Given the description of an element on the screen output the (x, y) to click on. 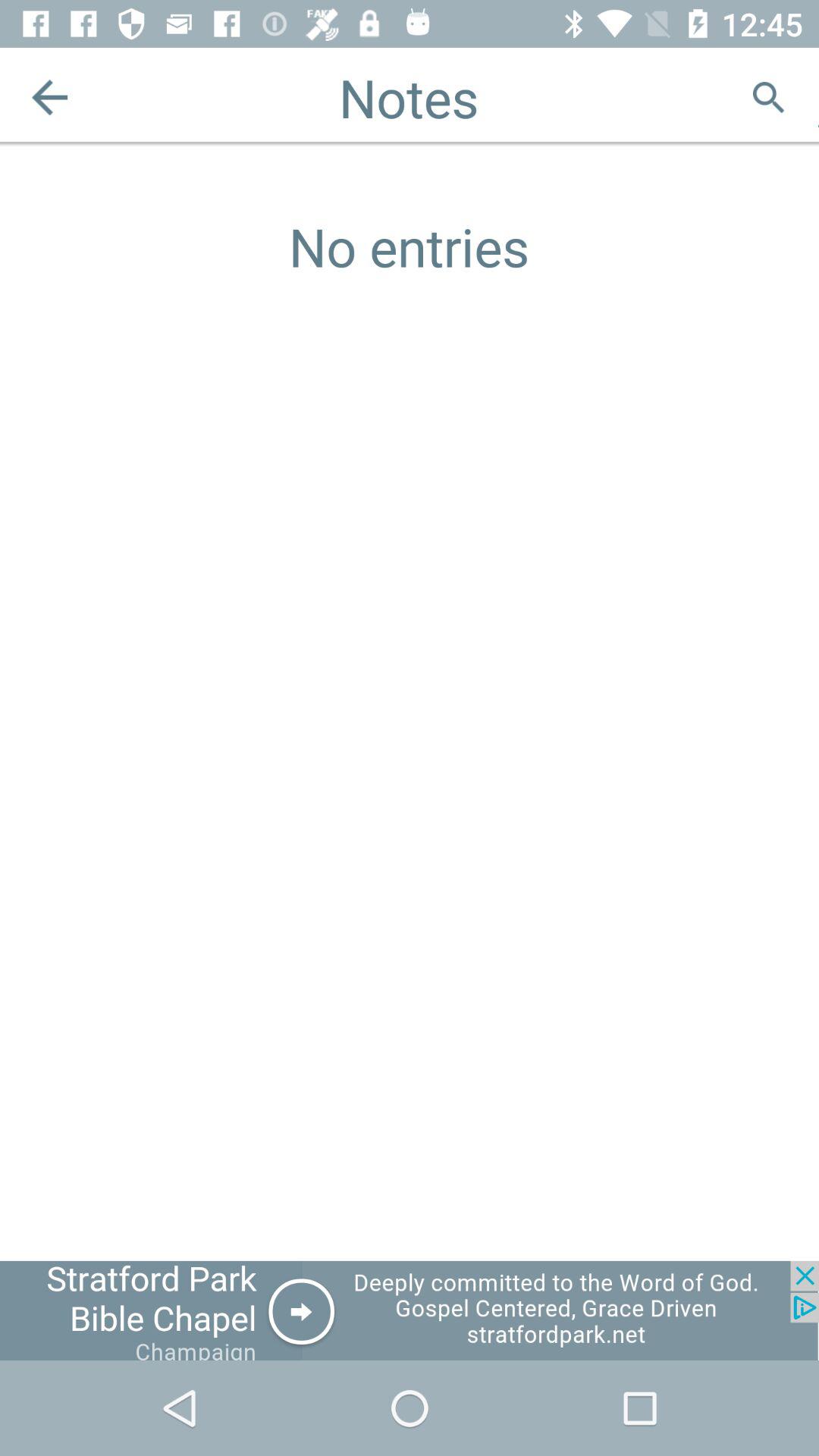
open the advertisement (409, 1310)
